Given the description of an element on the screen output the (x, y) to click on. 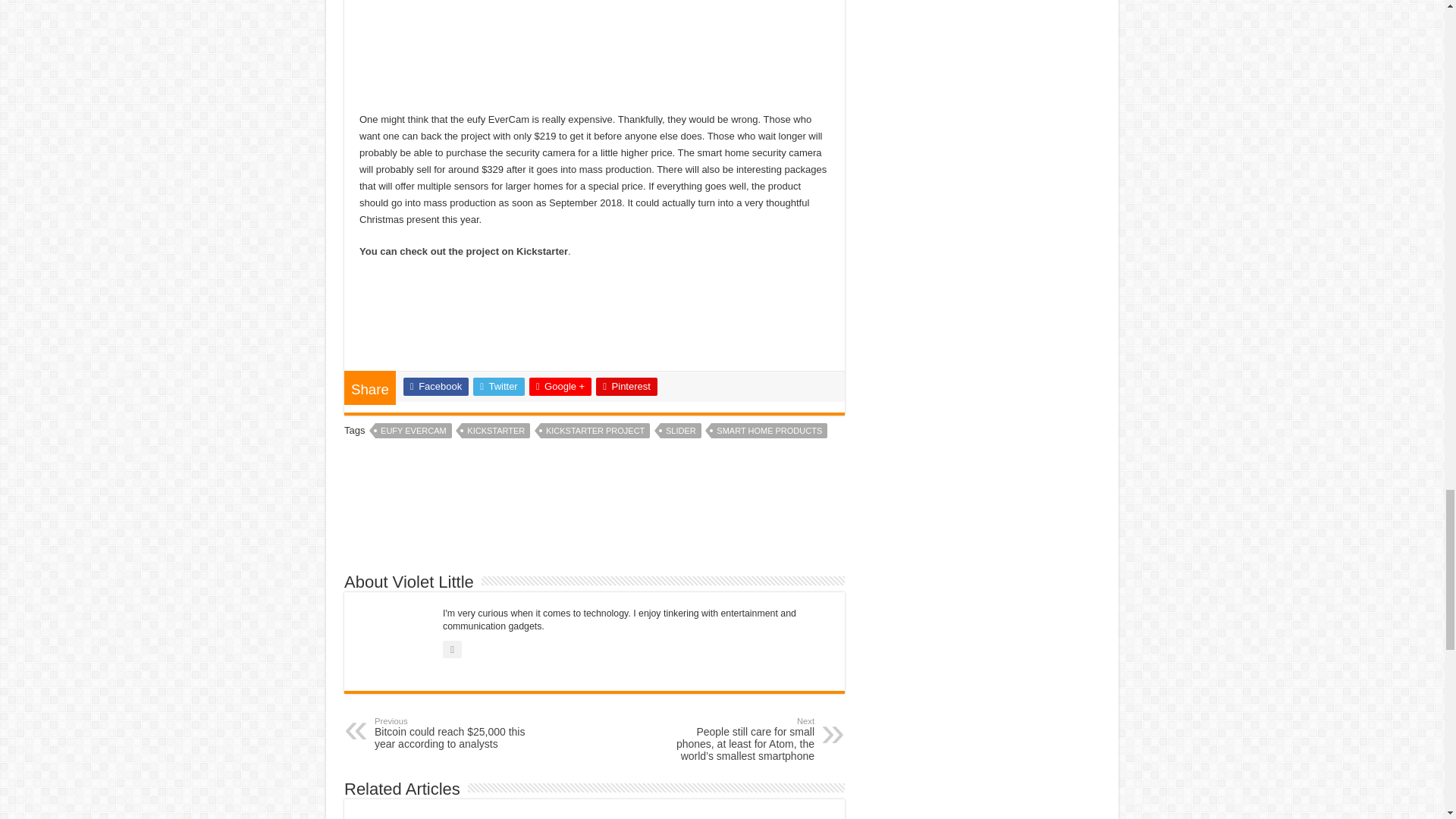
EUFY EVERCAM (413, 430)
Twitter (498, 386)
KICKSTARTER PROJECT (594, 430)
You can check out the project on Kickstarter (463, 251)
Pinterest (626, 386)
Facebook (435, 386)
KICKSTARTER (495, 430)
SMART HOME PRODUCTS (769, 430)
SLIDER (681, 430)
